Given the description of an element on the screen output the (x, y) to click on. 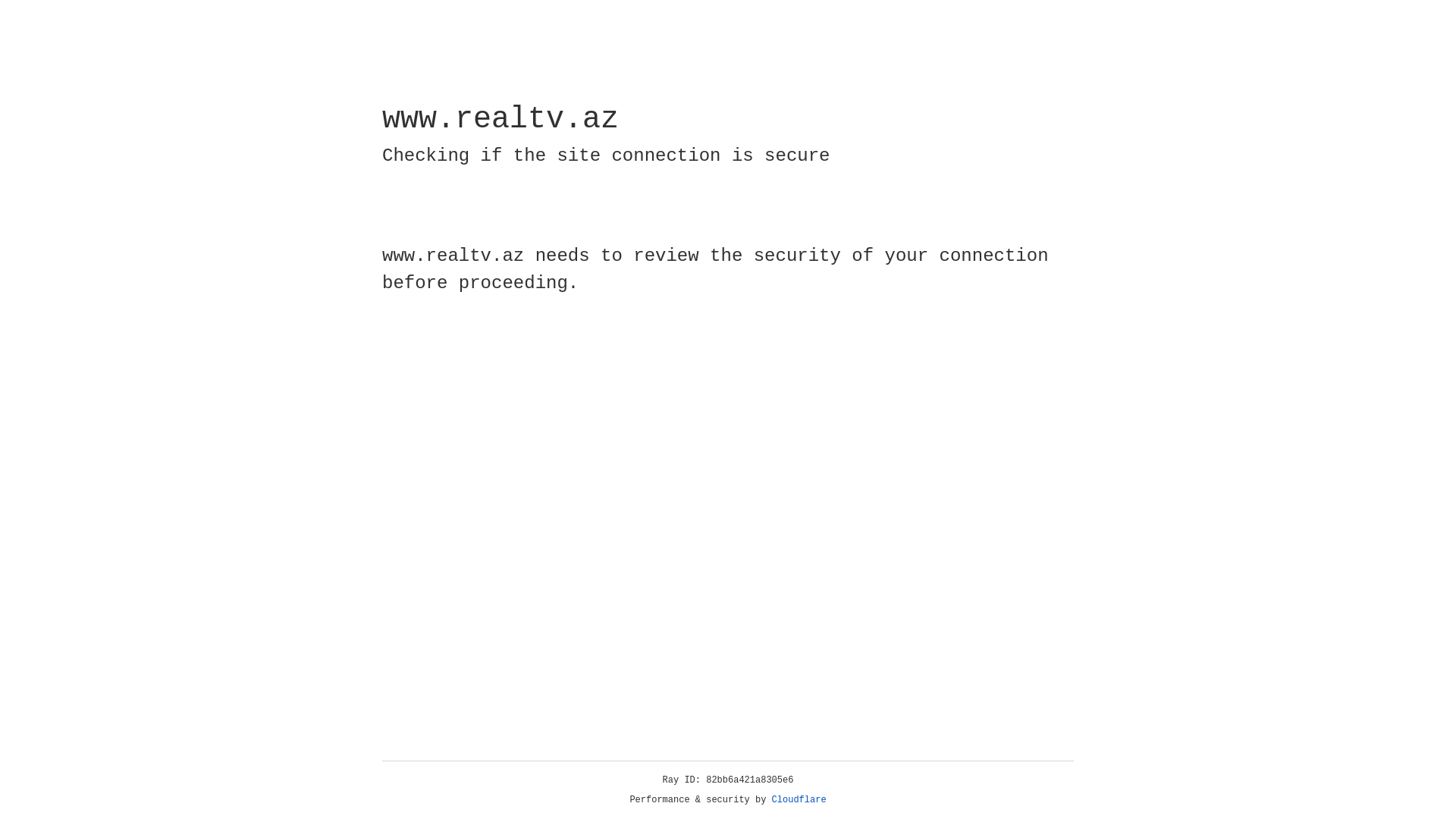
Cloudflare Element type: text (798, 799)
